Given the description of an element on the screen output the (x, y) to click on. 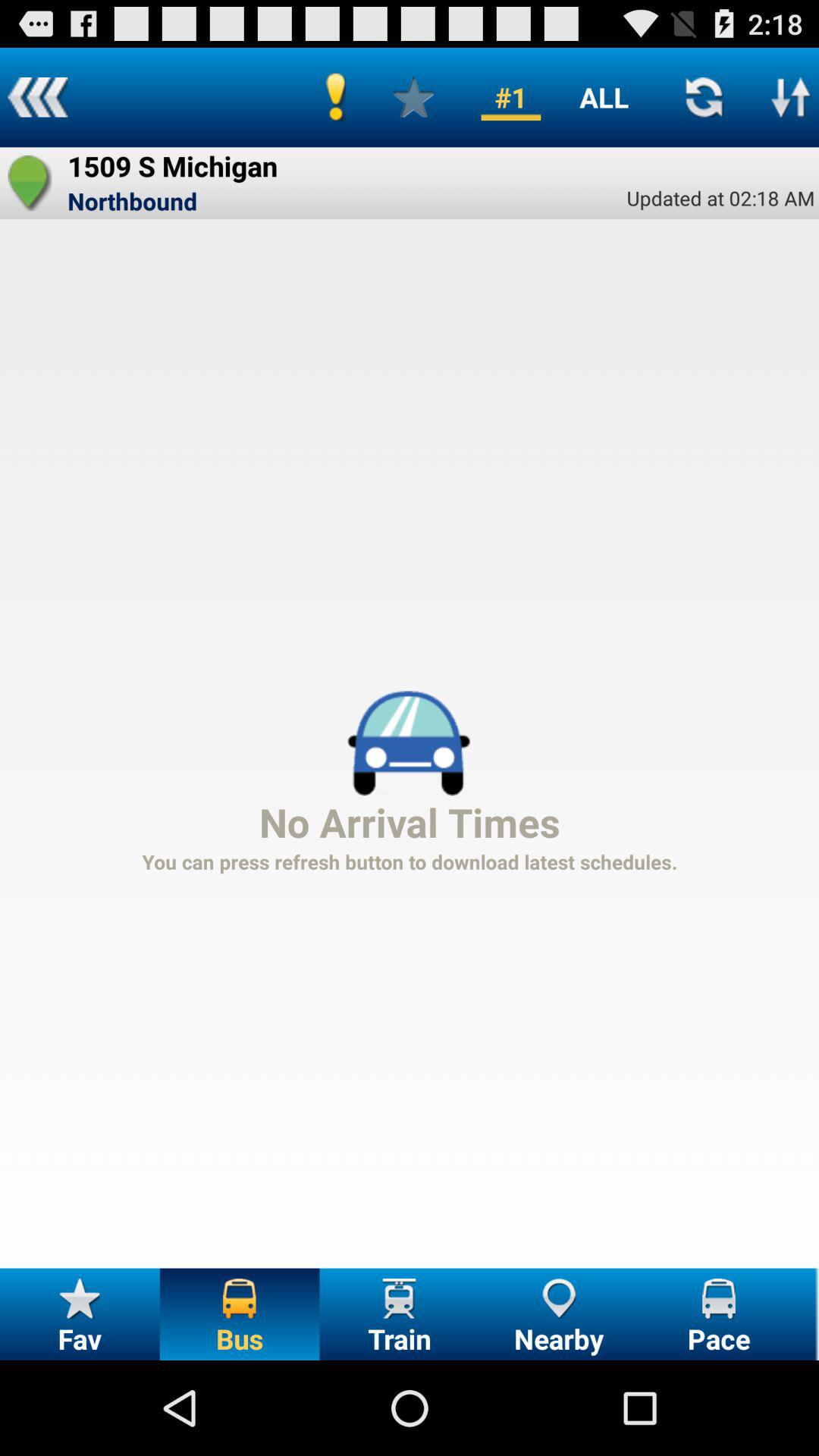
tap app above 1509 s michigan icon (37, 97)
